Given the description of an element on the screen output the (x, y) to click on. 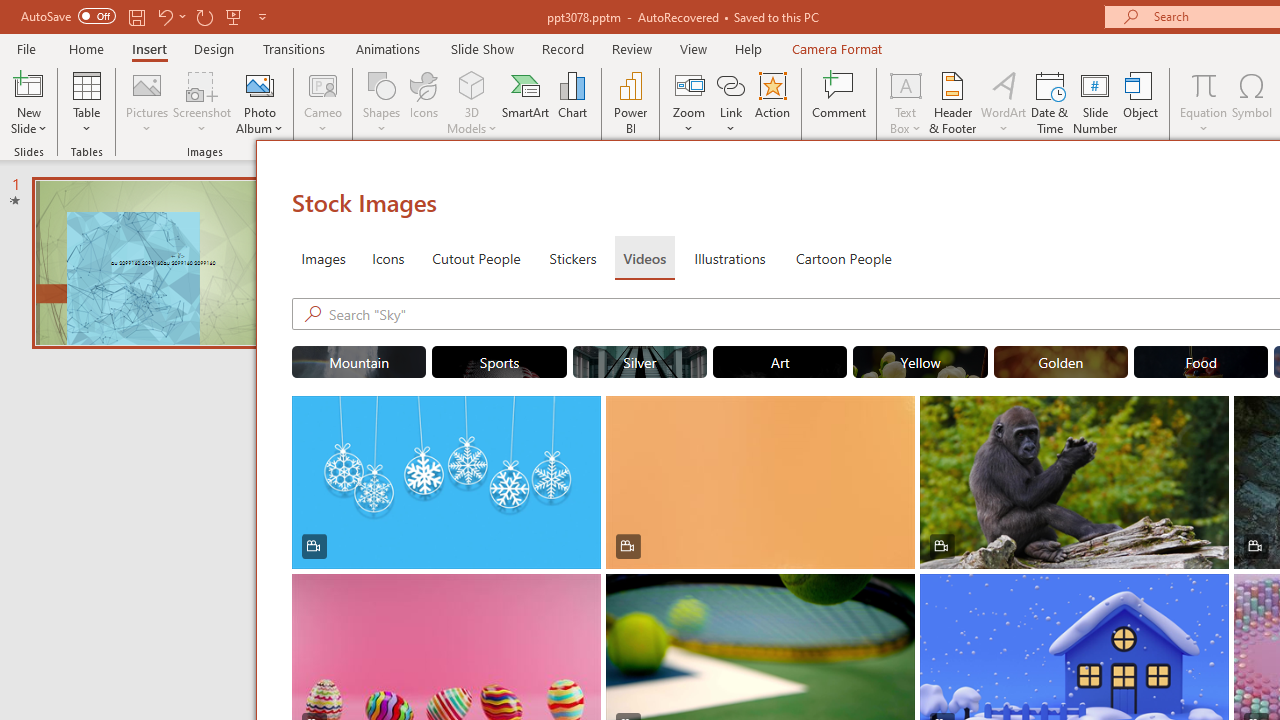
Comment (839, 102)
New Photo Album... (259, 84)
Camera Format (836, 48)
"Golden" Stock Videos. (1060, 362)
WordArt (1004, 102)
Images (322, 258)
Header & Footer... (952, 102)
"Sports" Stock Videos. (499, 362)
Thumbnail (1213, 588)
